Given the description of an element on the screen output the (x, y) to click on. 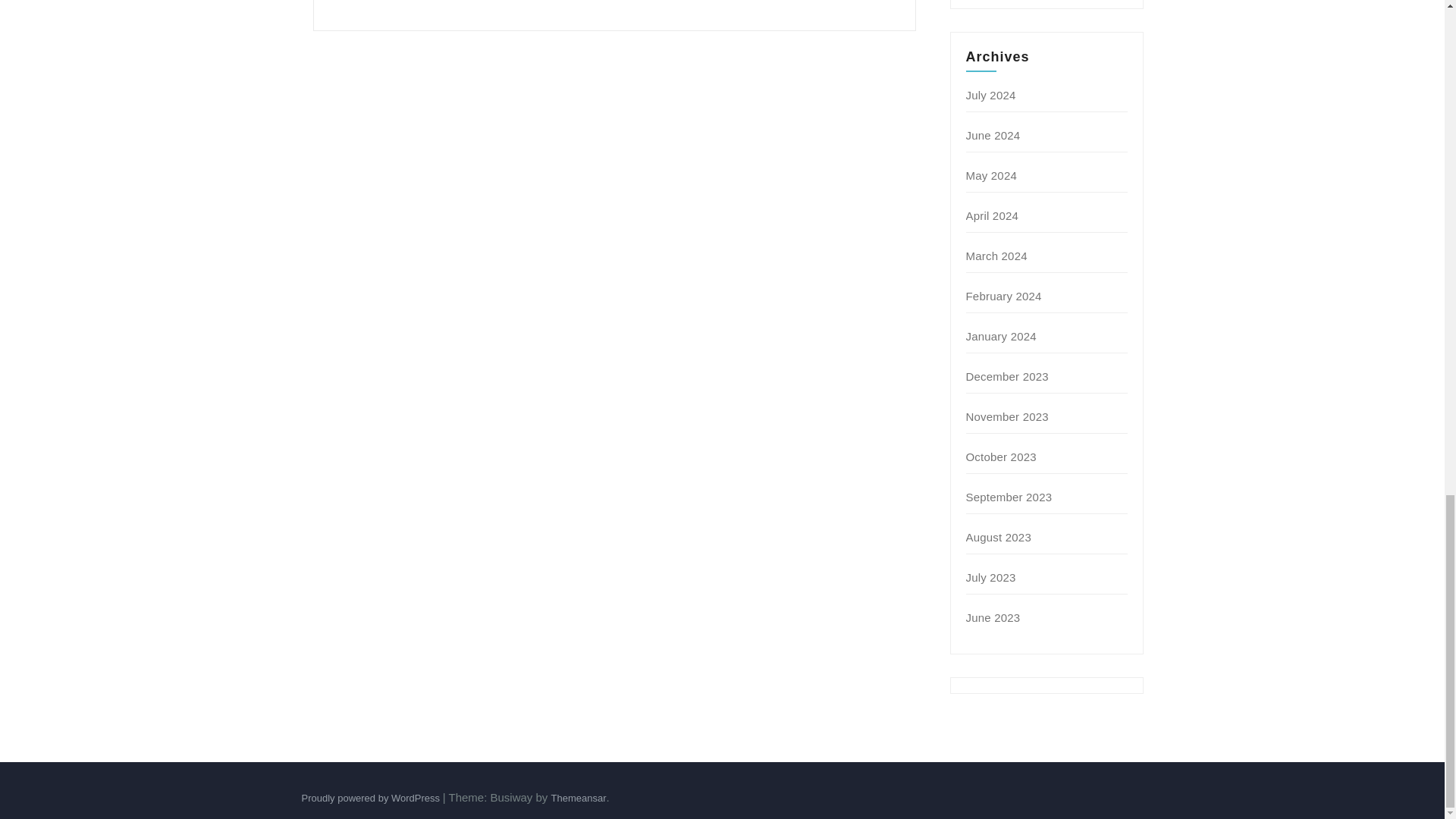
June 2023 (993, 617)
Themeansar (579, 797)
October 2023 (1001, 456)
July 2024 (991, 94)
March 2024 (996, 255)
August 2023 (998, 536)
September 2023 (1009, 496)
February 2024 (1004, 295)
January 2024 (1001, 336)
May 2024 (991, 174)
